Given the description of an element on the screen output the (x, y) to click on. 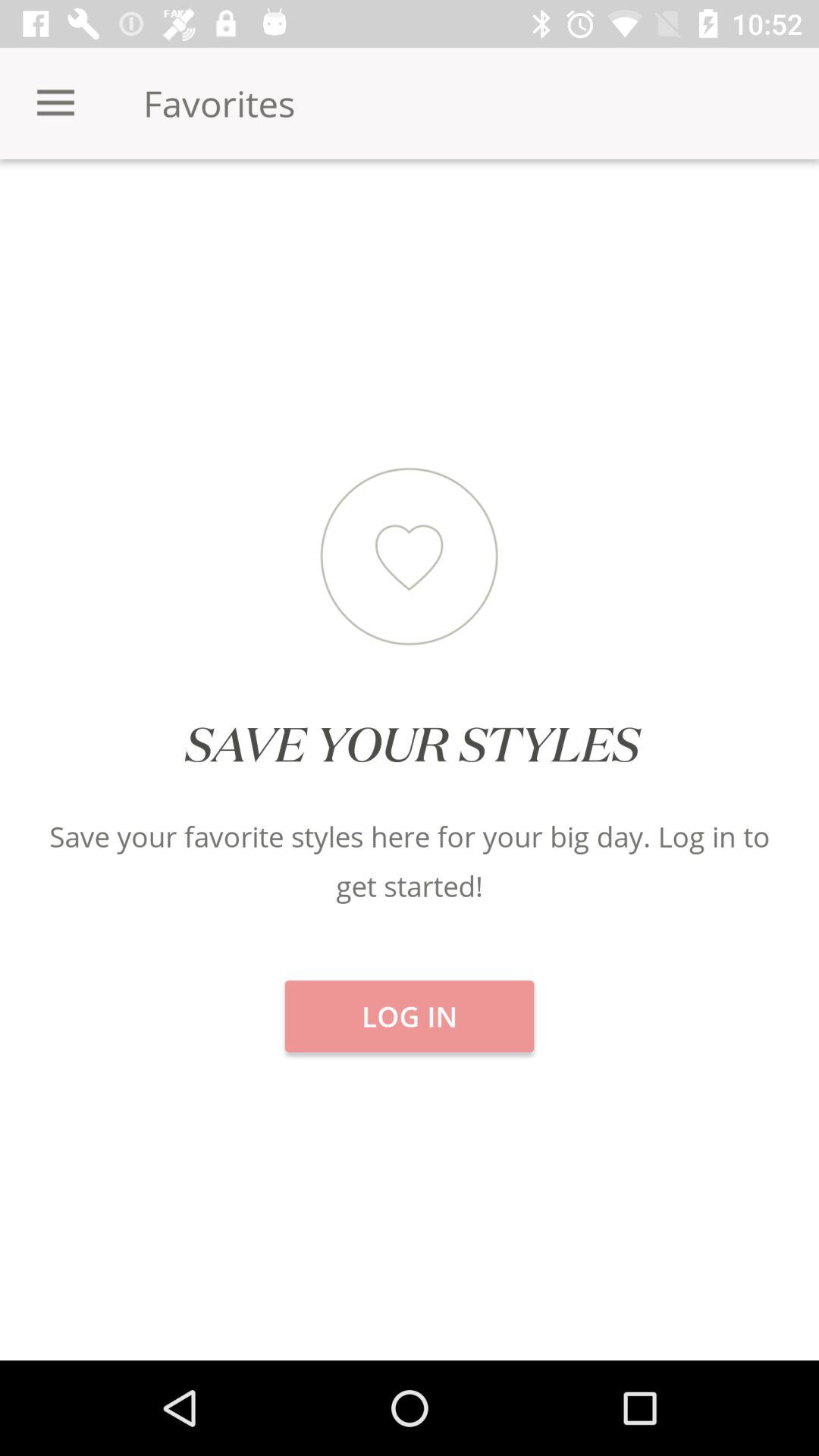
press the icon to the right of the categories (409, 212)
